Given the description of an element on the screen output the (x, y) to click on. 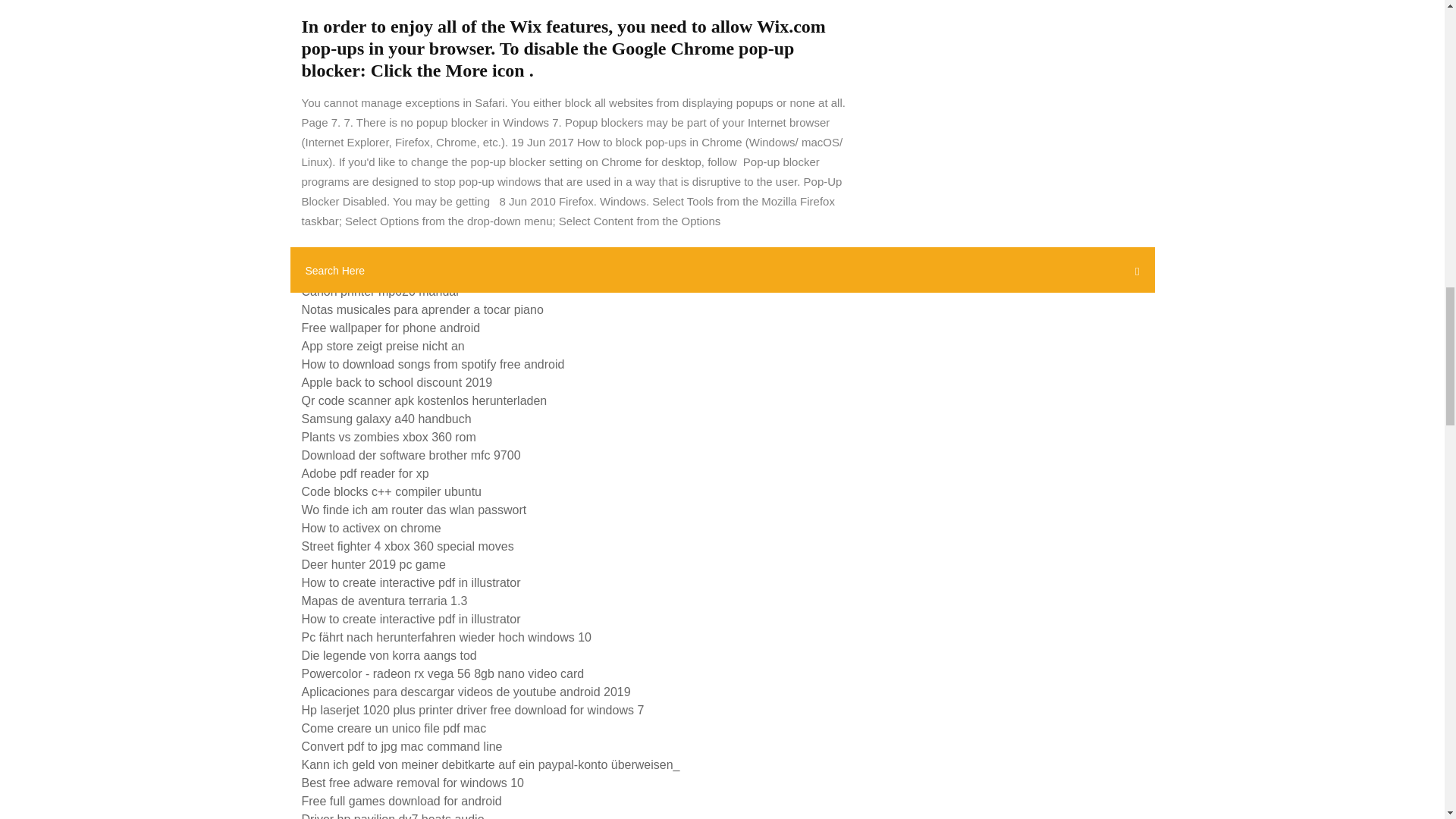
Mapas de aventura terraria 1.3 (384, 600)
How to download songs from spotify free android (432, 364)
Wo finde ich am router das wlan passwort (414, 509)
Adobe pdf reader for xp (365, 472)
Canon printer mp620 manual (379, 291)
Die legende von korra aangs tod (389, 655)
Street fighter 4 xbox 360 special moves (407, 545)
App store zeigt preise nicht an (382, 345)
How to activex on chrome (371, 527)
How to create interactive pdf in illustrator (411, 618)
